Given the description of an element on the screen output the (x, y) to click on. 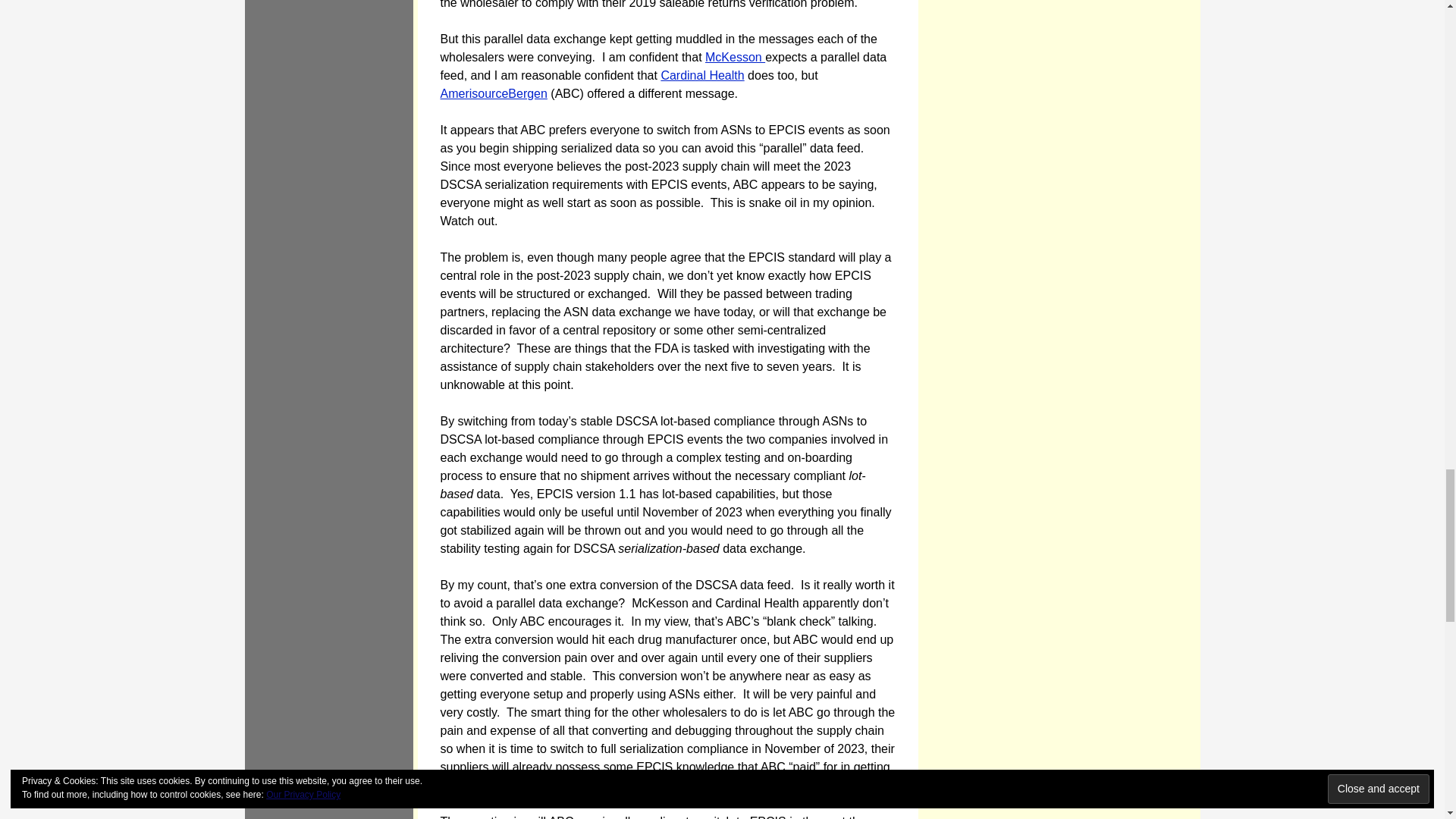
AmerisourceBergen (493, 92)
Cardinal Health (702, 74)
McKesson (734, 56)
